Given the description of an element on the screen output the (x, y) to click on. 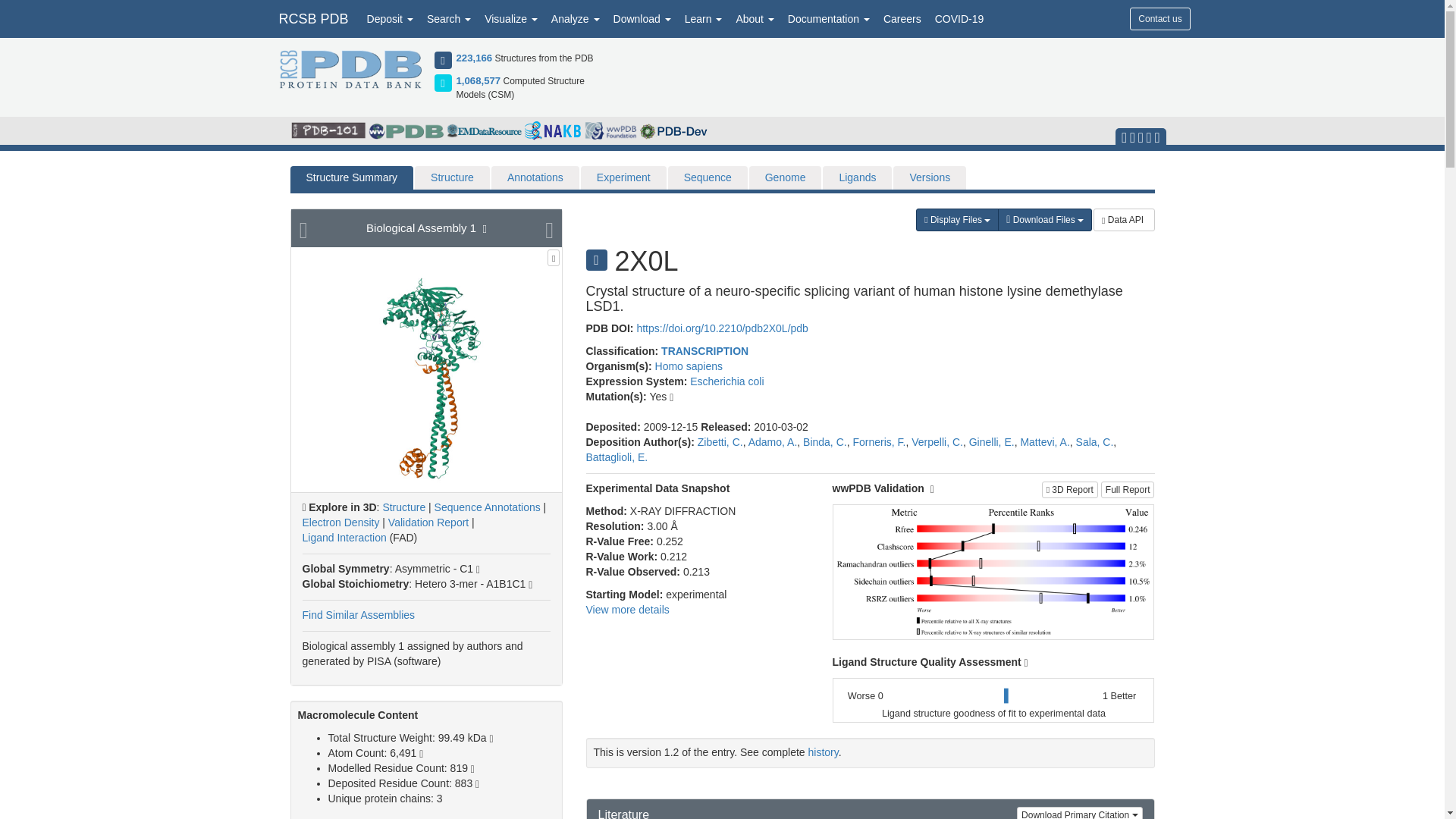
Analyze  (575, 18)
Search  (448, 18)
Deposit  (389, 18)
RCSB PDB (312, 18)
Visualize  (510, 18)
